Given the description of an element on the screen output the (x, y) to click on. 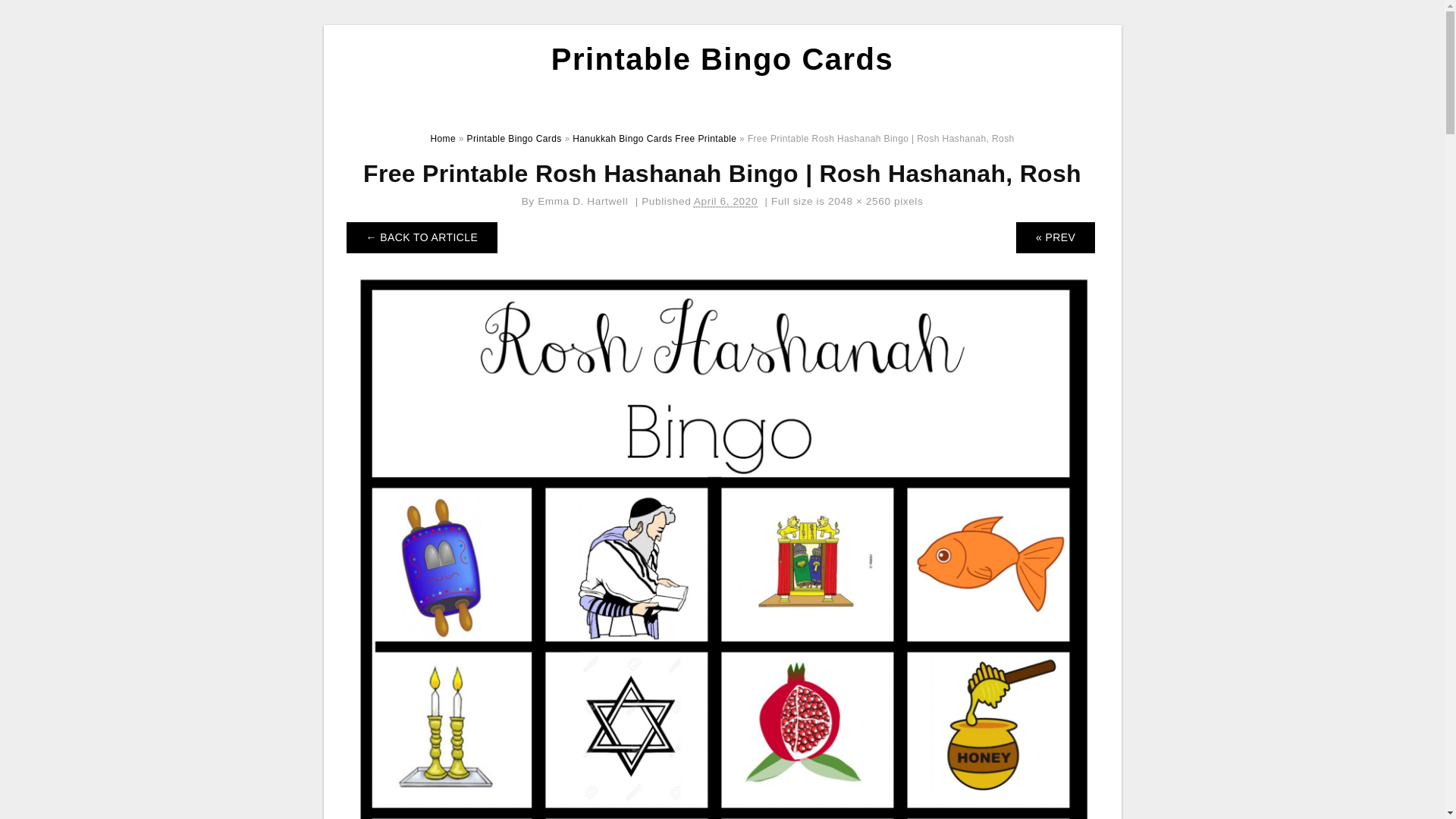
Return to Hanukkah Bingo Cards Free Printable (421, 237)
Home (442, 138)
11:20 am (725, 201)
View all posts by Emma D. Hartwell (582, 201)
Link to full-size image (859, 201)
Hanukkah Bingo Cards Free Printable (654, 138)
Printable Bingo Cards (722, 59)
Emma D. Hartwell (582, 201)
Printable Bingo Cards (514, 138)
